Given the description of an element on the screen output the (x, y) to click on. 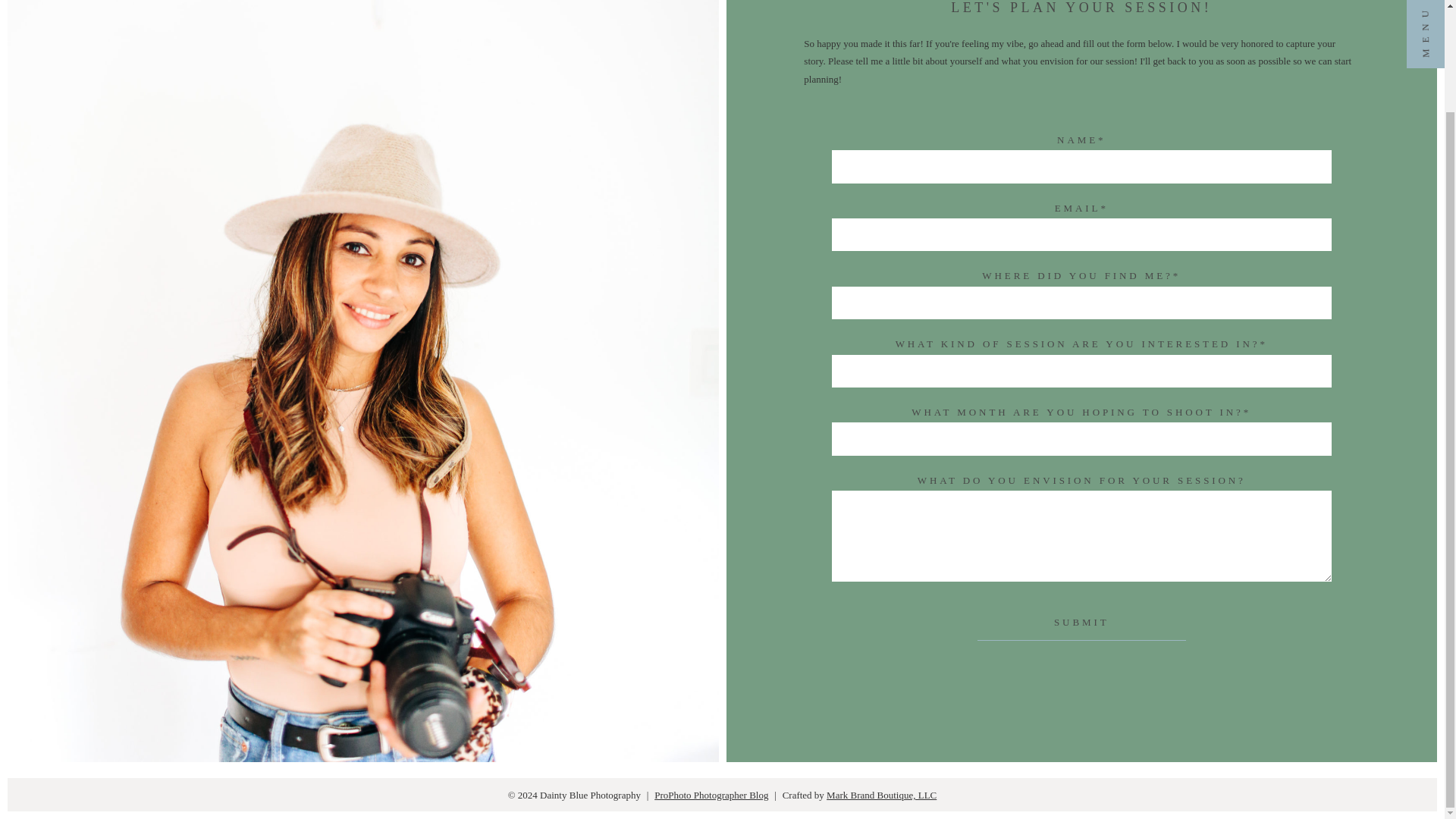
ProPhoto Photographer Blog (710, 794)
Mark Brand Boutique, LLC (881, 794)
ProPhoto Blogsite (710, 794)
